Given the description of an element on the screen output the (x, y) to click on. 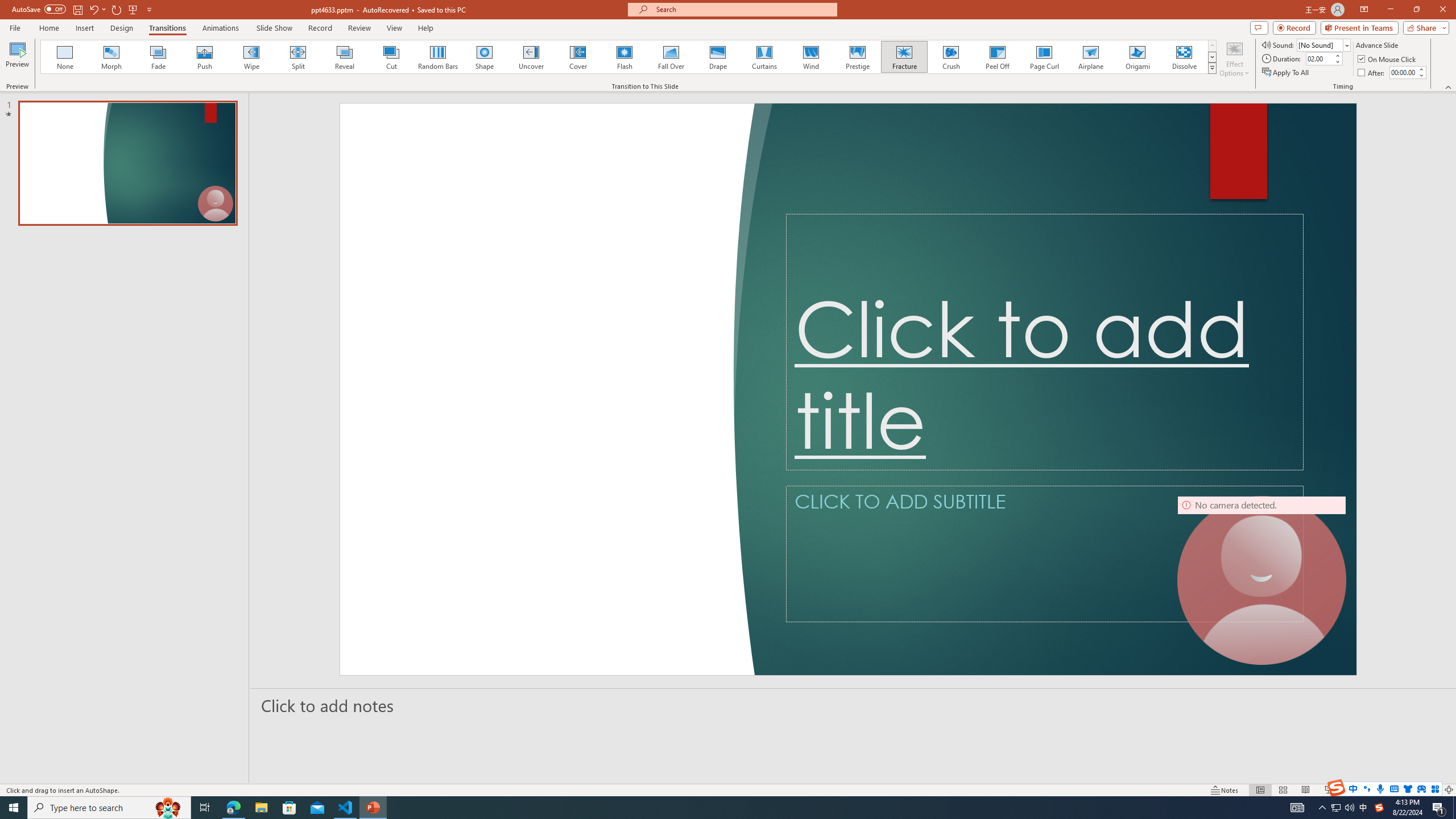
Shape (484, 56)
Fracture (903, 56)
Page Curl (1043, 56)
Fall Over (670, 56)
